Given the description of an element on the screen output the (x, y) to click on. 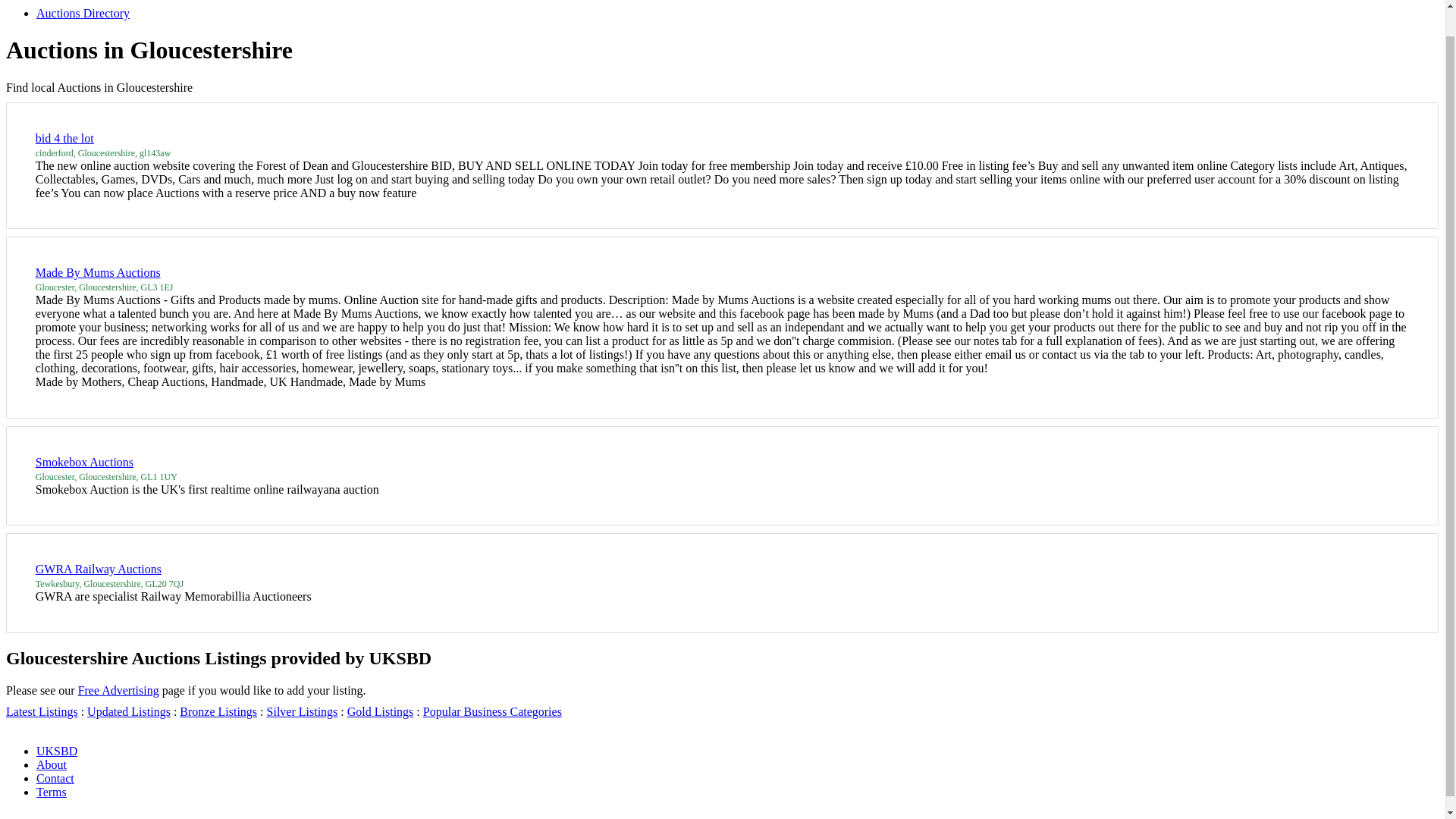
Contact (382, 773)
Made By Mums Auctions (300, 13)
Bronze Listings (468, 674)
GWRA Railway Auctions (299, 433)
Latest Listings (271, 674)
Gold Listings (644, 674)
Free Advertising (363, 622)
Popular Business Categories (771, 674)
Updated Listings (367, 674)
UKSBD (240, 773)
